Given the description of an element on the screen output the (x, y) to click on. 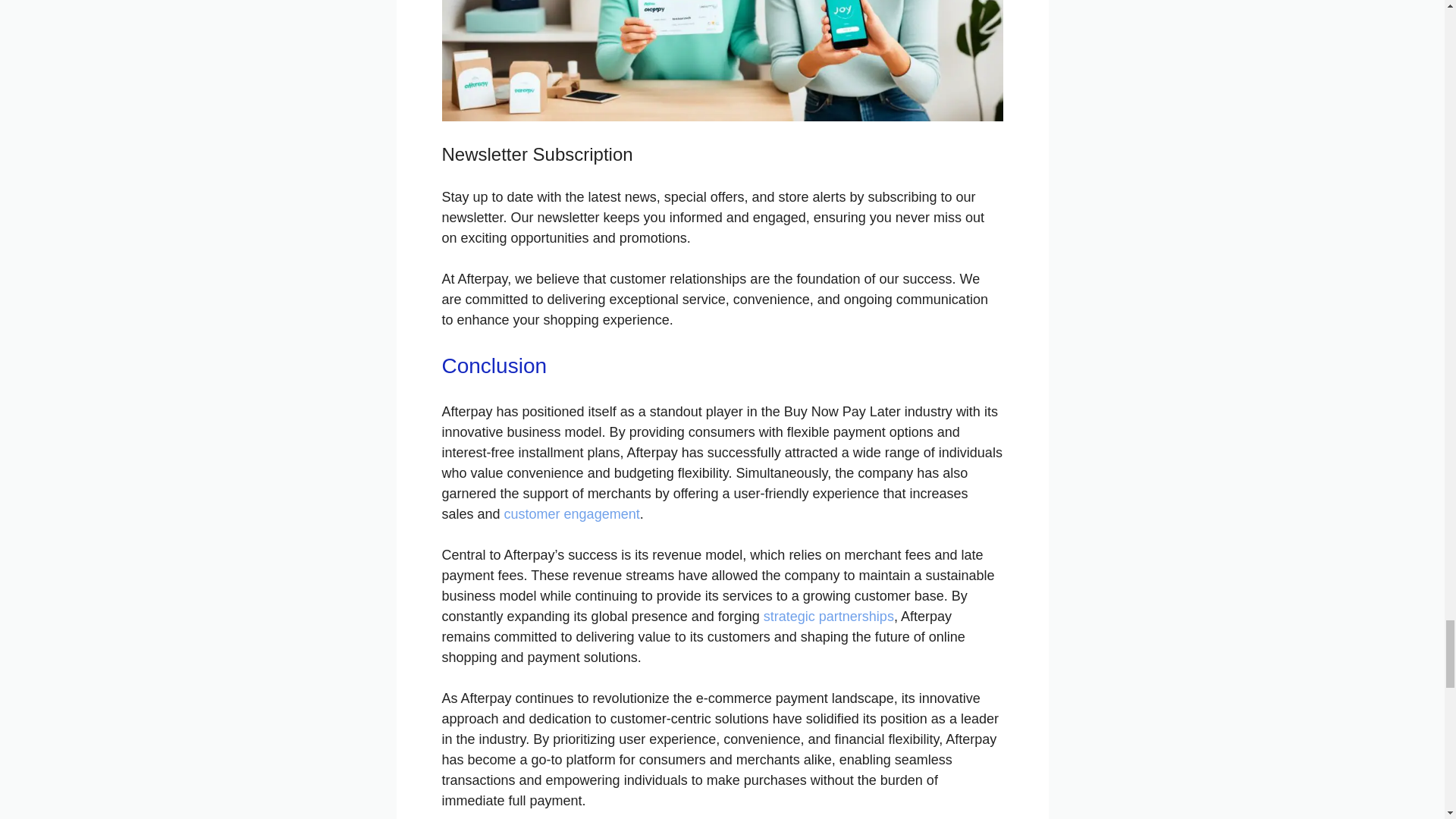
customer engagement (571, 513)
Afterpay Customer Relationships (722, 60)
strategic partnerships (827, 616)
